Given the description of an element on the screen output the (x, y) to click on. 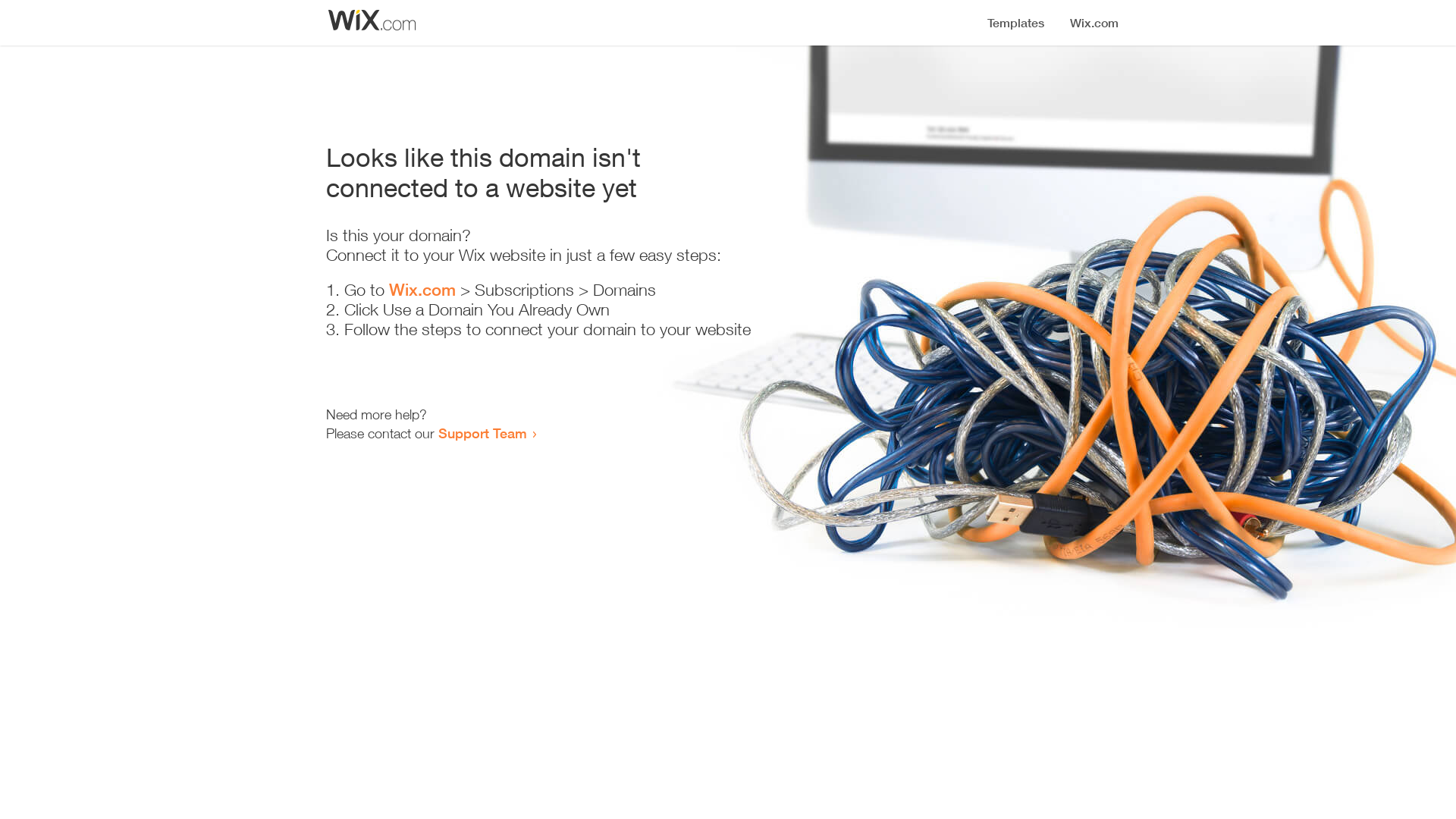
Wix.com Element type: text (422, 289)
Support Team Element type: text (482, 432)
